Given the description of an element on the screen output the (x, y) to click on. 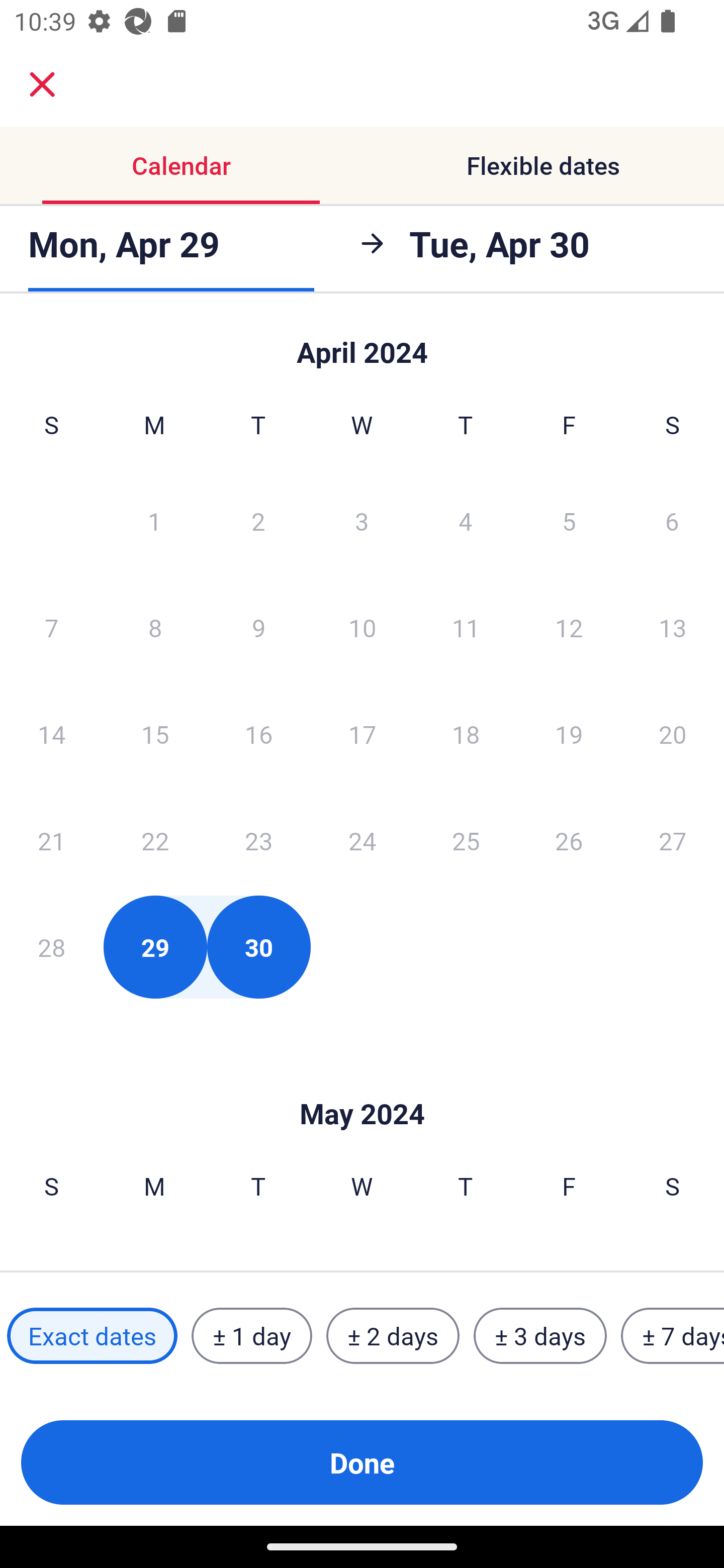
close. (42, 84)
Flexible dates (542, 164)
Skip to Done (362, 343)
1 Monday, April 1, 2024 (154, 520)
2 Tuesday, April 2, 2024 (257, 520)
3 Wednesday, April 3, 2024 (361, 520)
4 Thursday, April 4, 2024 (465, 520)
5 Friday, April 5, 2024 (568, 520)
6 Saturday, April 6, 2024 (672, 520)
7 Sunday, April 7, 2024 (51, 626)
8 Monday, April 8, 2024 (155, 626)
9 Tuesday, April 9, 2024 (258, 626)
10 Wednesday, April 10, 2024 (362, 626)
11 Thursday, April 11, 2024 (465, 626)
12 Friday, April 12, 2024 (569, 626)
13 Saturday, April 13, 2024 (672, 626)
14 Sunday, April 14, 2024 (51, 733)
15 Monday, April 15, 2024 (155, 733)
16 Tuesday, April 16, 2024 (258, 733)
17 Wednesday, April 17, 2024 (362, 733)
18 Thursday, April 18, 2024 (465, 733)
19 Friday, April 19, 2024 (569, 733)
20 Saturday, April 20, 2024 (672, 733)
21 Sunday, April 21, 2024 (51, 840)
22 Monday, April 22, 2024 (155, 840)
23 Tuesday, April 23, 2024 (258, 840)
24 Wednesday, April 24, 2024 (362, 840)
25 Thursday, April 25, 2024 (465, 840)
26 Friday, April 26, 2024 (569, 840)
27 Saturday, April 27, 2024 (672, 840)
28 Sunday, April 28, 2024 (51, 946)
Skip to Done (362, 1083)
Exact dates (92, 1335)
± 1 day (251, 1335)
± 2 days (392, 1335)
± 3 days (539, 1335)
± 7 days (672, 1335)
Done (361, 1462)
